Given the description of an element on the screen output the (x, y) to click on. 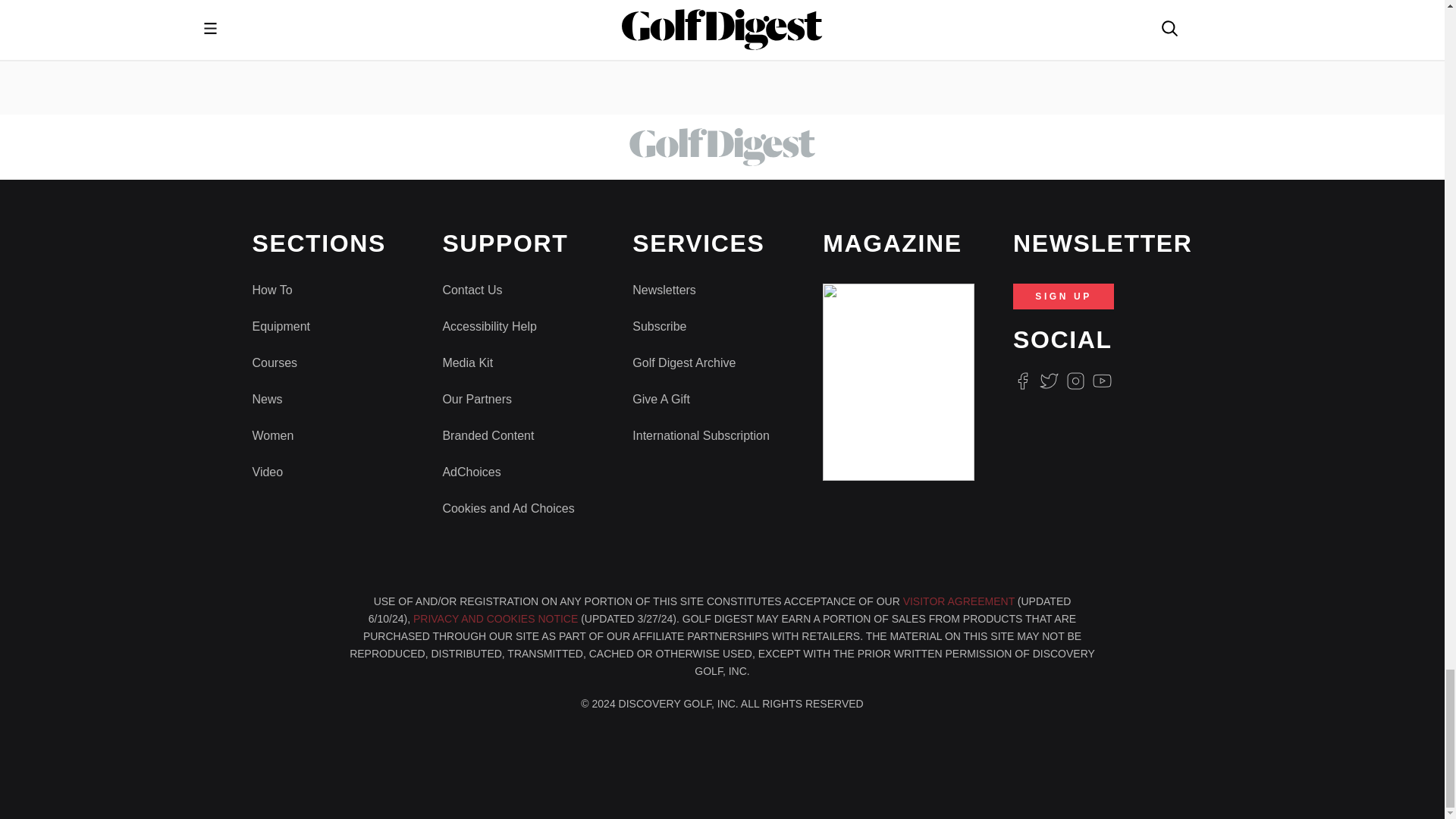
Instagram Logo (1074, 380)
Youtube Icon (1102, 380)
Facebook Logo (1022, 380)
Twitter Logo (1048, 380)
